Given the description of an element on the screen output the (x, y) to click on. 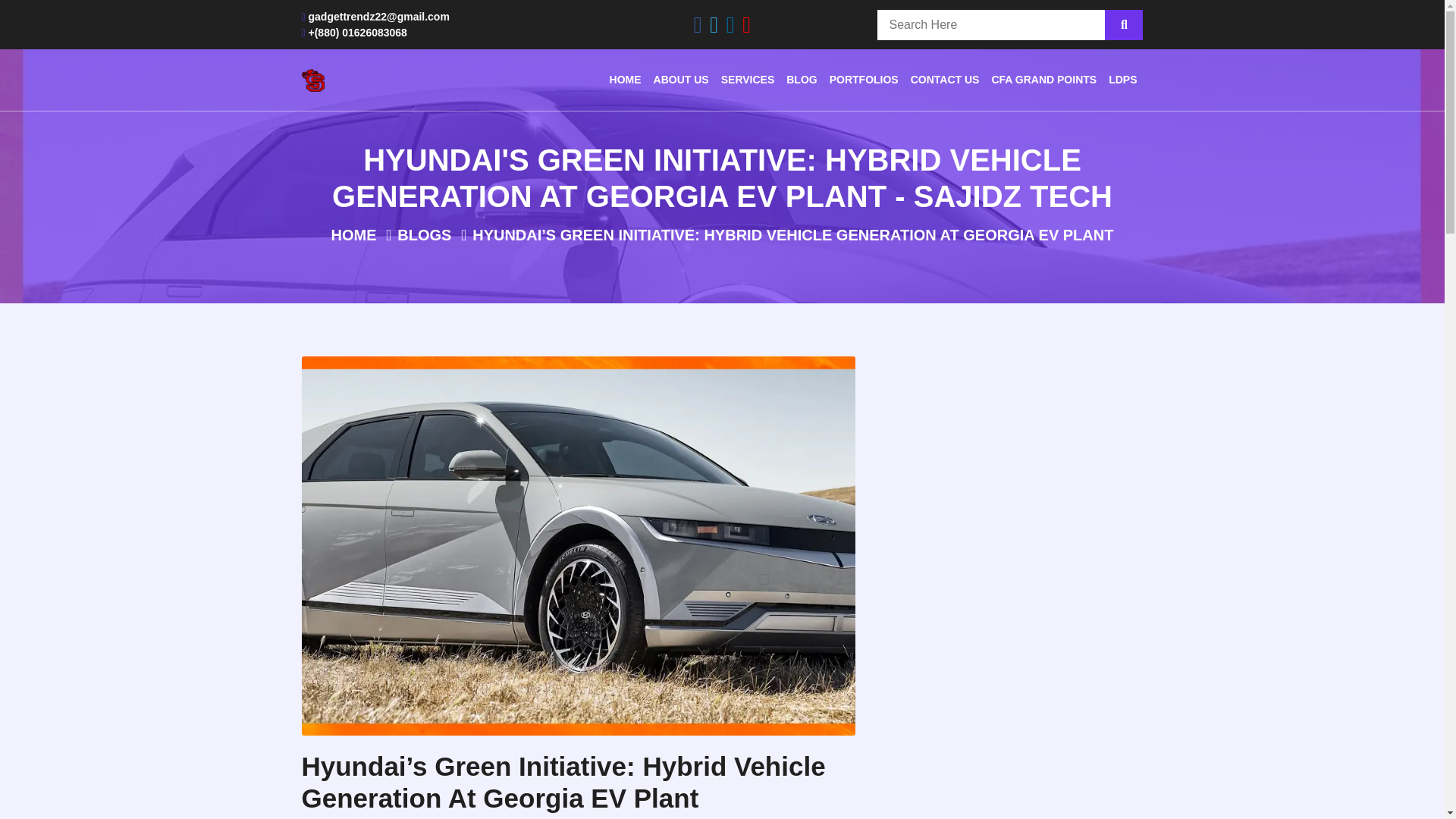
HOME (354, 234)
CONTACT US (944, 79)
BLOGS (424, 234)
PORTFOLIOS (864, 79)
ABOUT US (680, 79)
CFA GRAND POINTS (1043, 79)
SERVICES (747, 79)
